Given the description of an element on the screen output the (x, y) to click on. 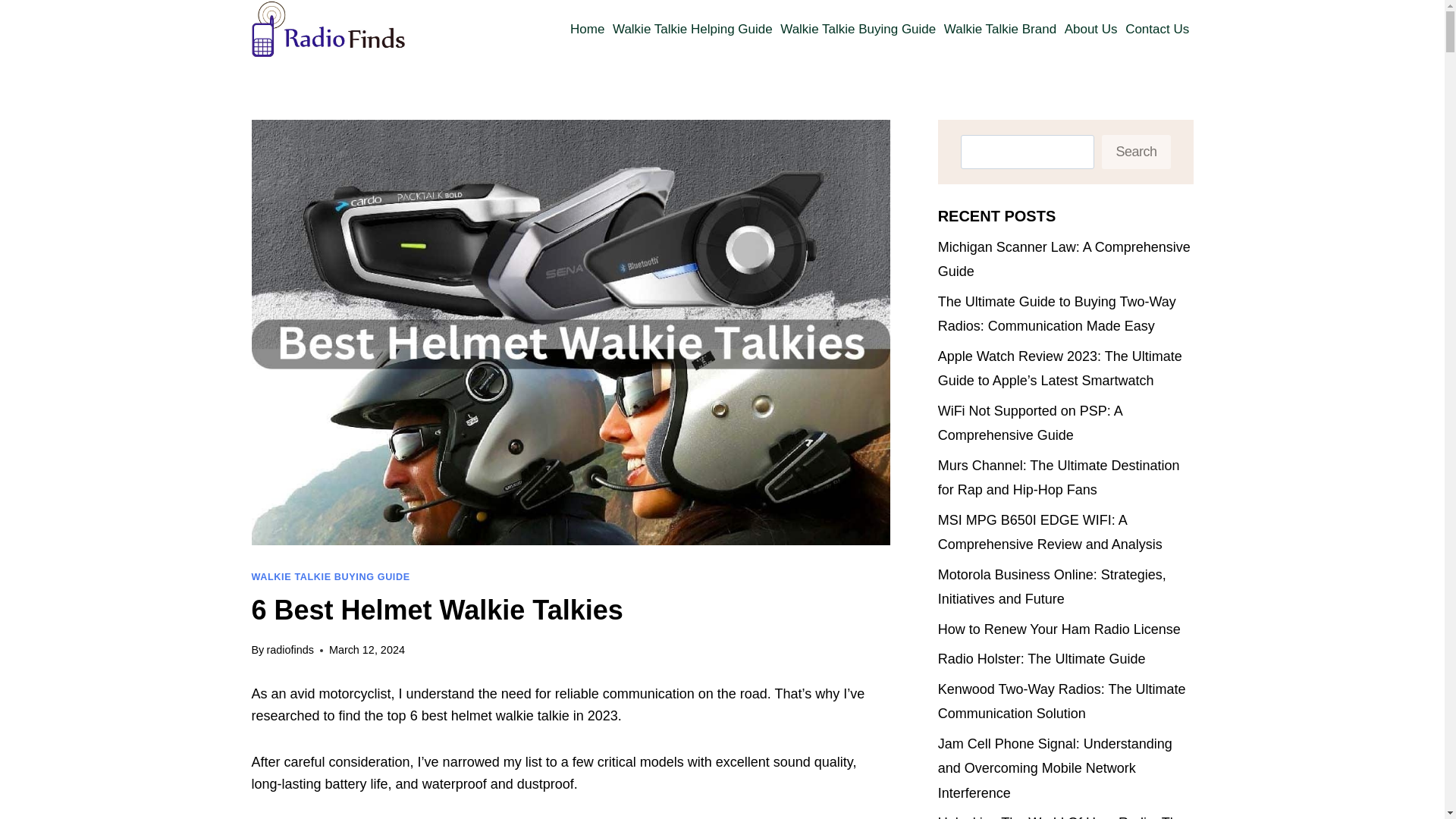
Walkie Talkie Brand (1000, 29)
Home (587, 29)
WALKIE TALKIE BUYING GUIDE (330, 576)
Walkie Talkie Helping Guide (692, 29)
Contact Us (1157, 29)
Walkie Talkie Buying Guide (858, 29)
radiofinds (289, 649)
About Us (1090, 29)
